Given the description of an element on the screen output the (x, y) to click on. 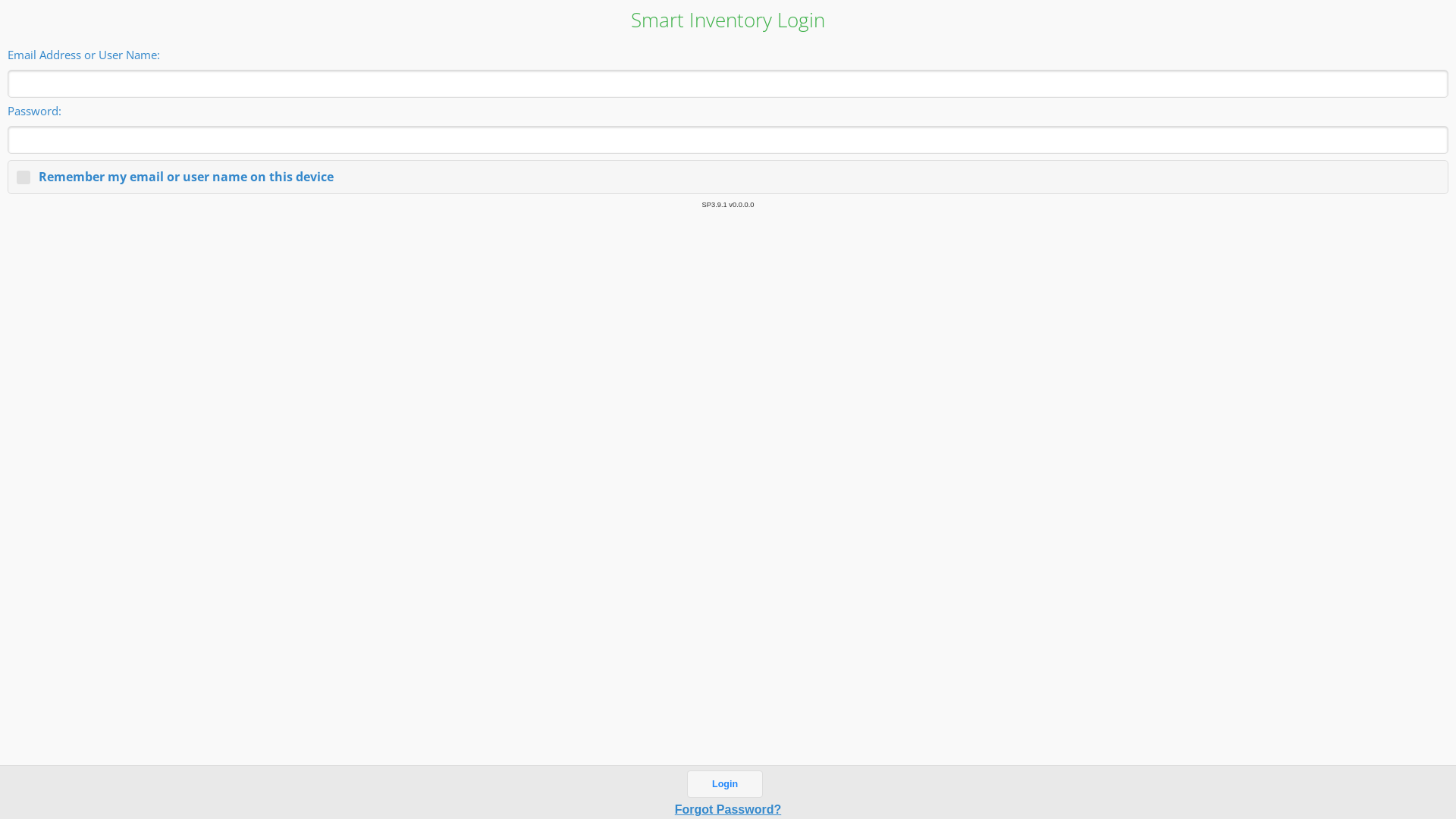
Login Element type: text (724, 783)
Forgot Password? Element type: text (727, 809)
